Given the description of an element on the screen output the (x, y) to click on. 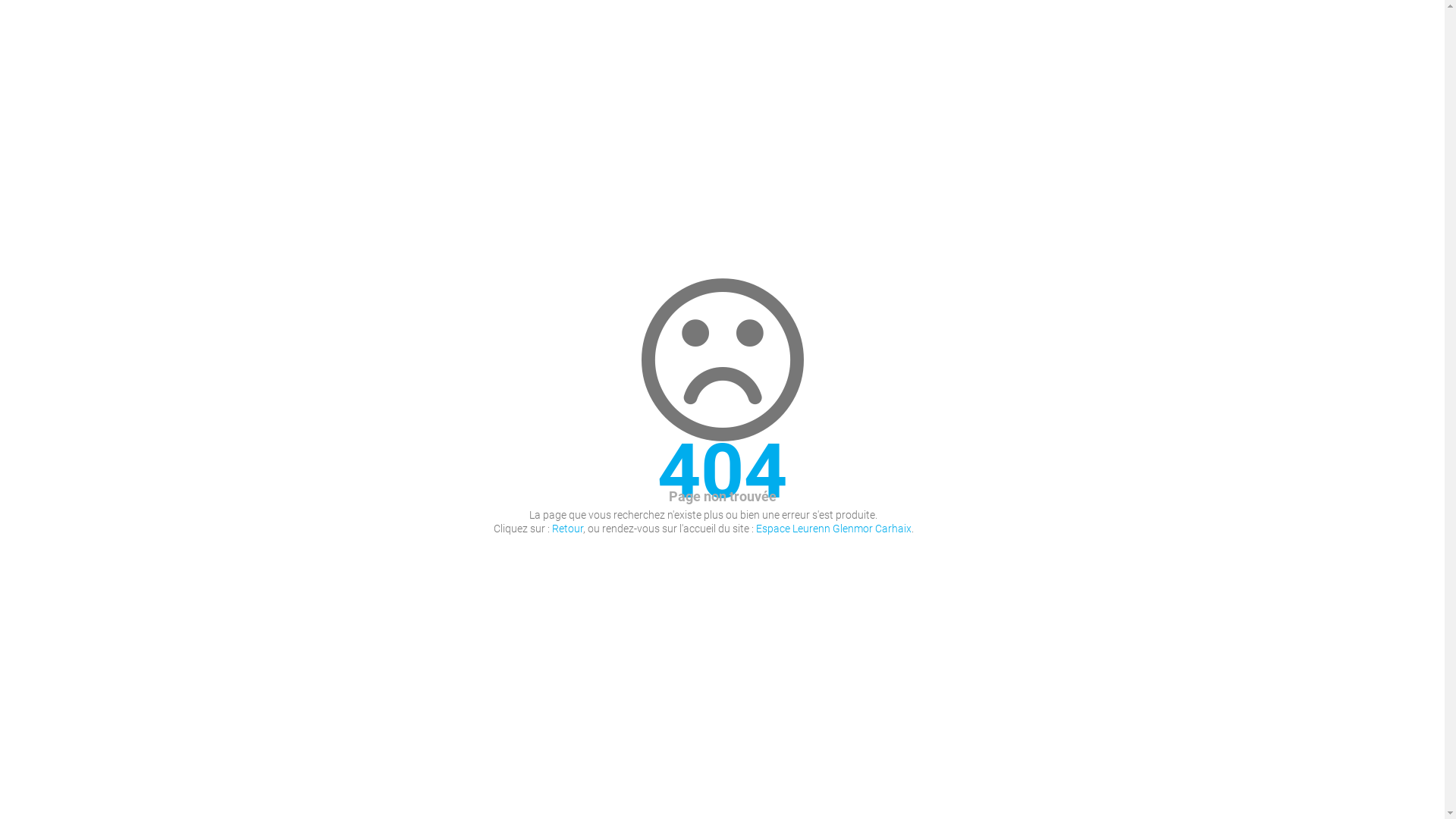
Retour Element type: text (567, 528)
Espace Leurenn Glenmor Carhaix Element type: text (832, 528)
